Given the description of an element on the screen output the (x, y) to click on. 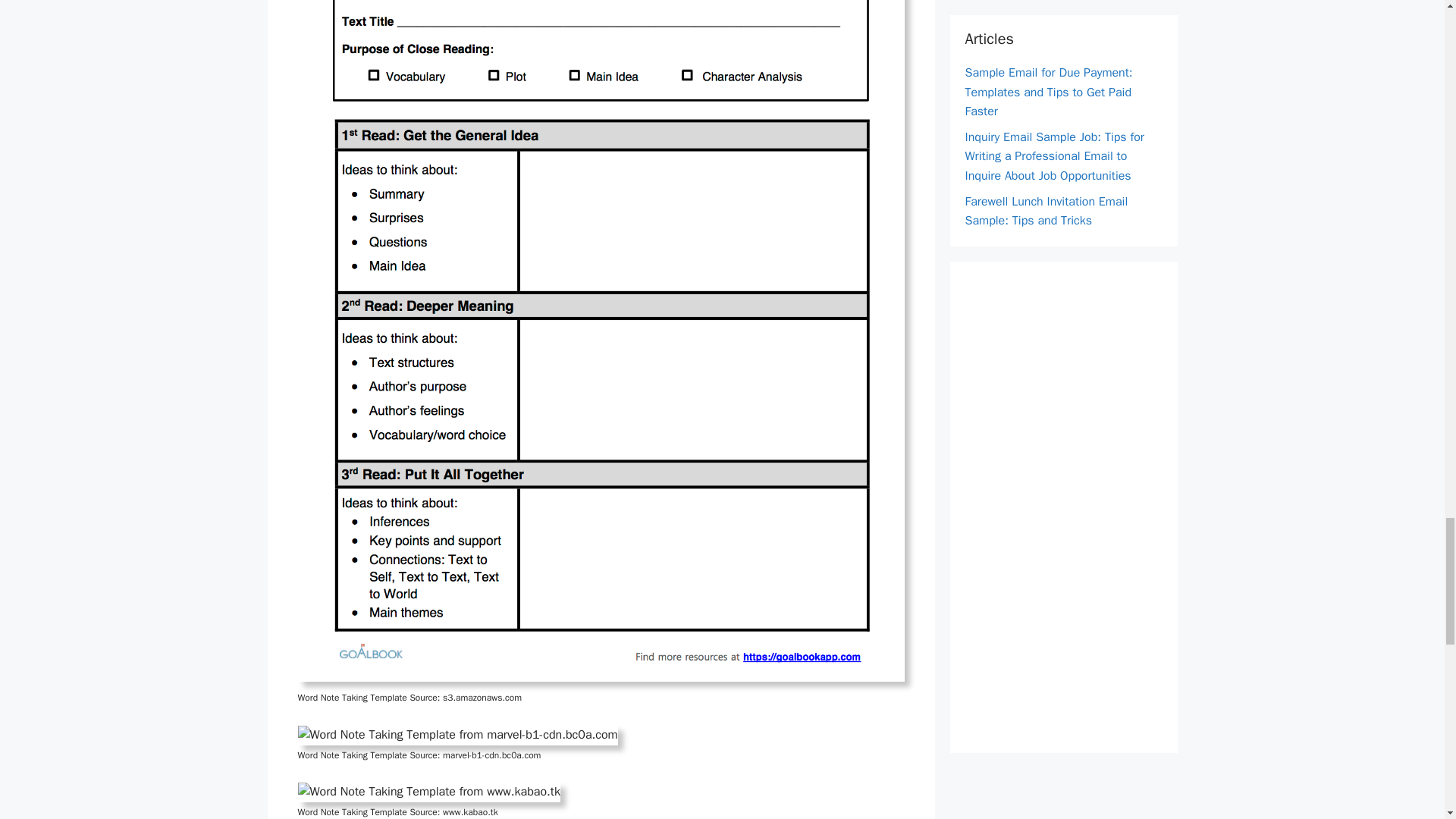
Word Note Taking Template Collection 7 (457, 735)
Word Note Taking Template Collection 8 (428, 792)
